Given the description of an element on the screen output the (x, y) to click on. 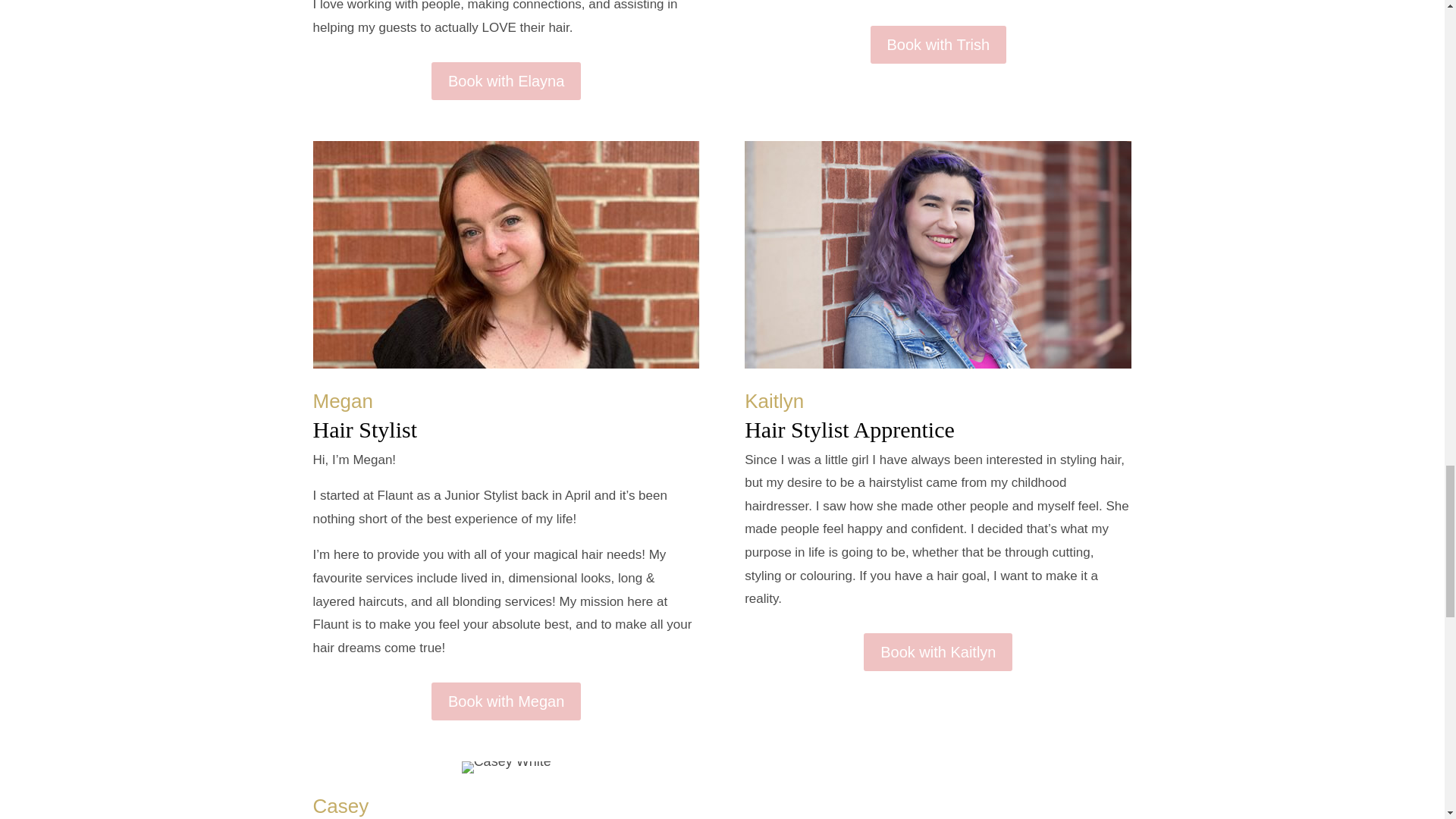
caseywhite (506, 767)
Book with Elayna (505, 80)
Book with Kaitlyn (937, 651)
Book with Trish (938, 44)
Book with Megan (505, 701)
meganphotoSM (505, 254)
kaitlynSM (937, 254)
